Given the description of an element on the screen output the (x, y) to click on. 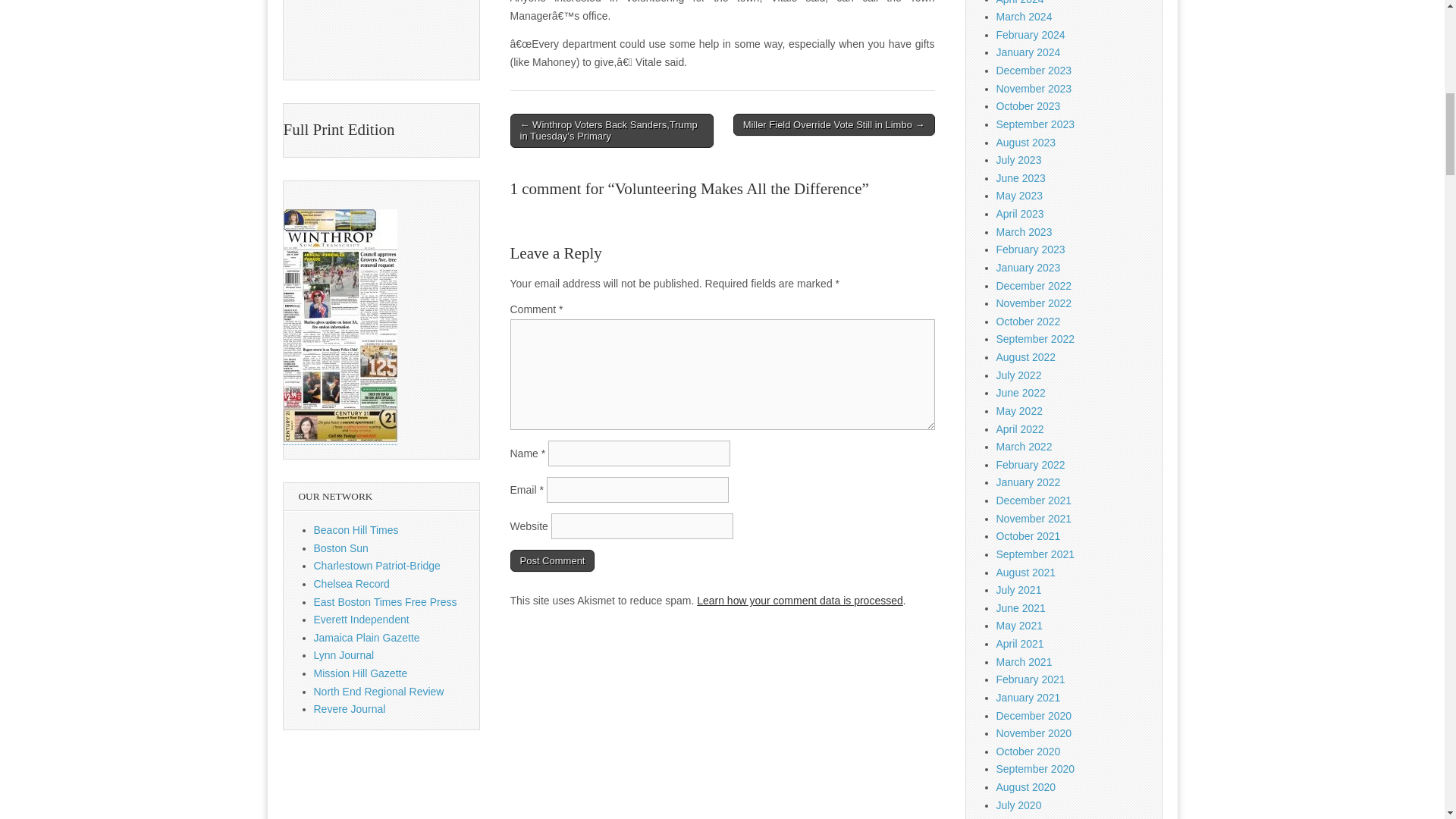
Revere Journal (349, 708)
Charlestown Patriot-Bridge (377, 565)
Post Comment (551, 560)
Boston Sun (341, 548)
Everett Independent (361, 619)
Lynn Journal (344, 654)
Learn how your comment data is processed (799, 600)
East Boston Times Free Press (385, 602)
Jamaica Plain Gazette (367, 637)
Beacon Hill Times (356, 530)
North End Regional Review (379, 691)
Post Comment (551, 560)
Mission Hill Gazette (360, 673)
Chelsea Record (352, 583)
